Given the description of an element on the screen output the (x, y) to click on. 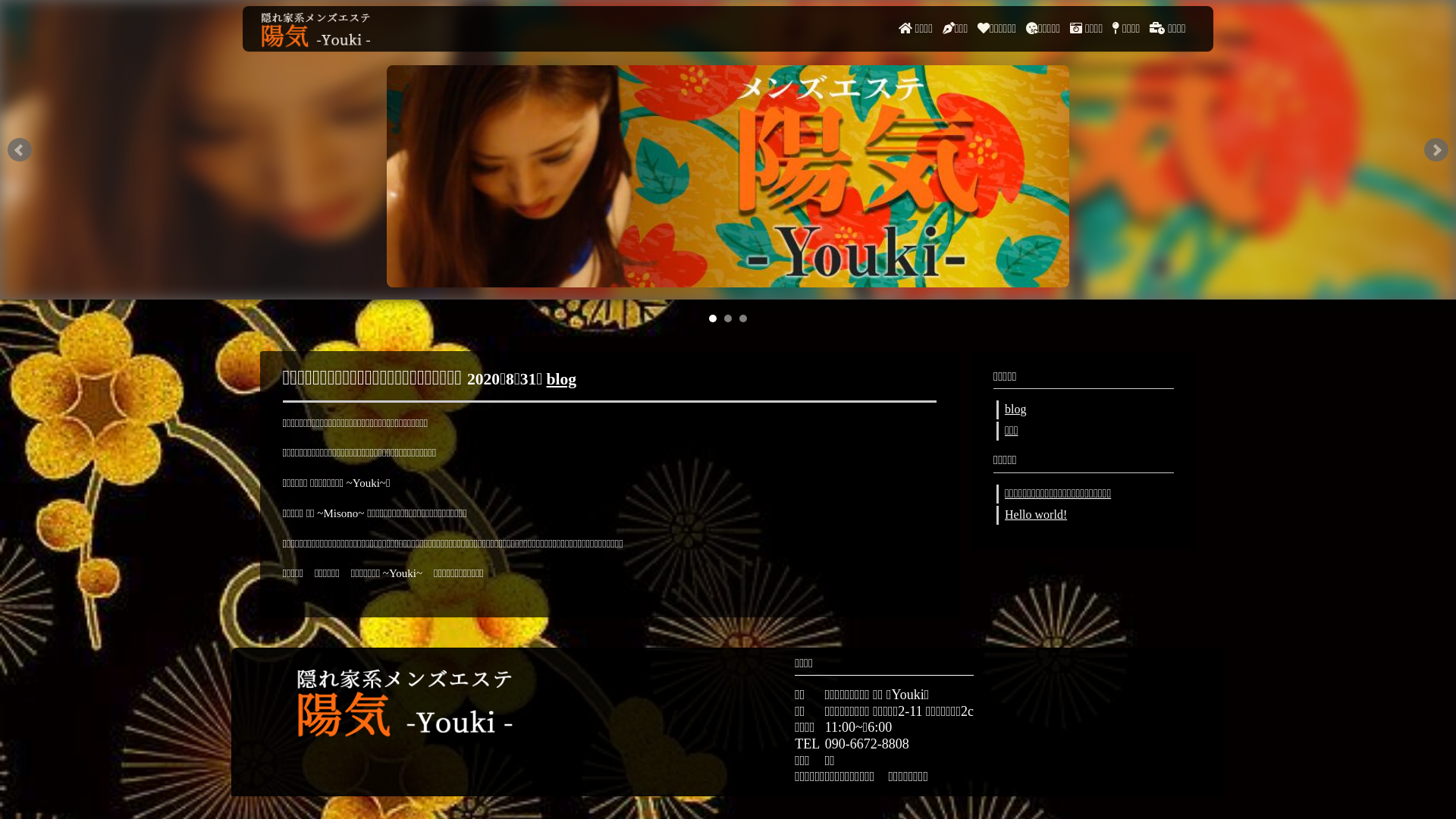
blog Element type: text (1015, 408)
Hello world! Element type: text (1035, 514)
blog Element type: text (561, 379)
Prev Element type: text (19, 150)
Next Element type: text (1436, 150)
2 Element type: text (727, 318)
1 Element type: text (712, 318)
3 Element type: text (742, 318)
